Given the description of an element on the screen output the (x, y) to click on. 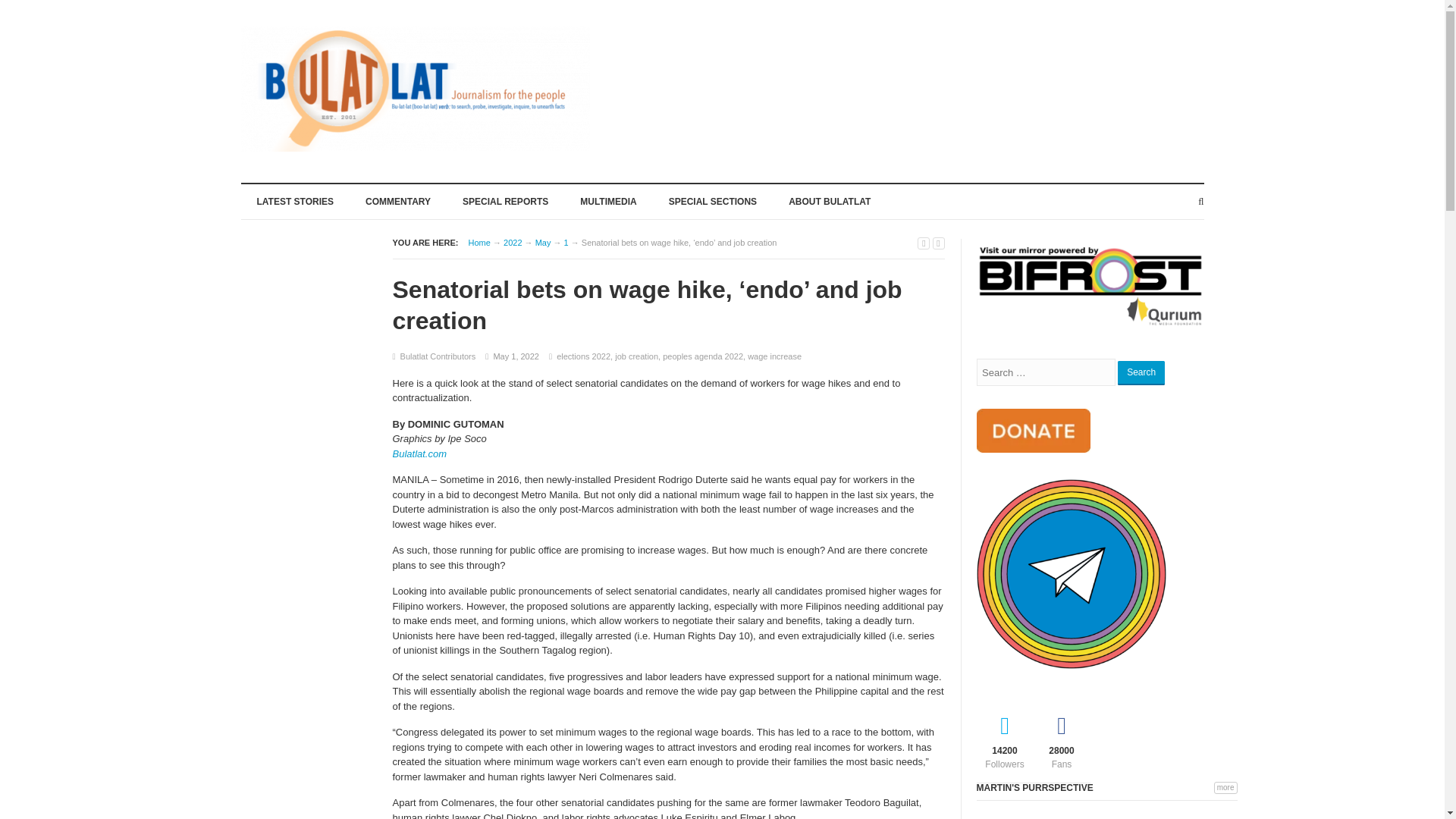
Sunday, May 1, 2022, 5:46 pm (515, 356)
COMMENTARY (397, 200)
Bulatlat (479, 242)
SPECIAL SECTIONS (713, 200)
SPECIAL REPORTS (505, 200)
Twitter (1004, 739)
Facebook (1060, 739)
MULTIMEDIA (608, 200)
LATEST STORIES (296, 200)
